Given the description of an element on the screen output the (x, y) to click on. 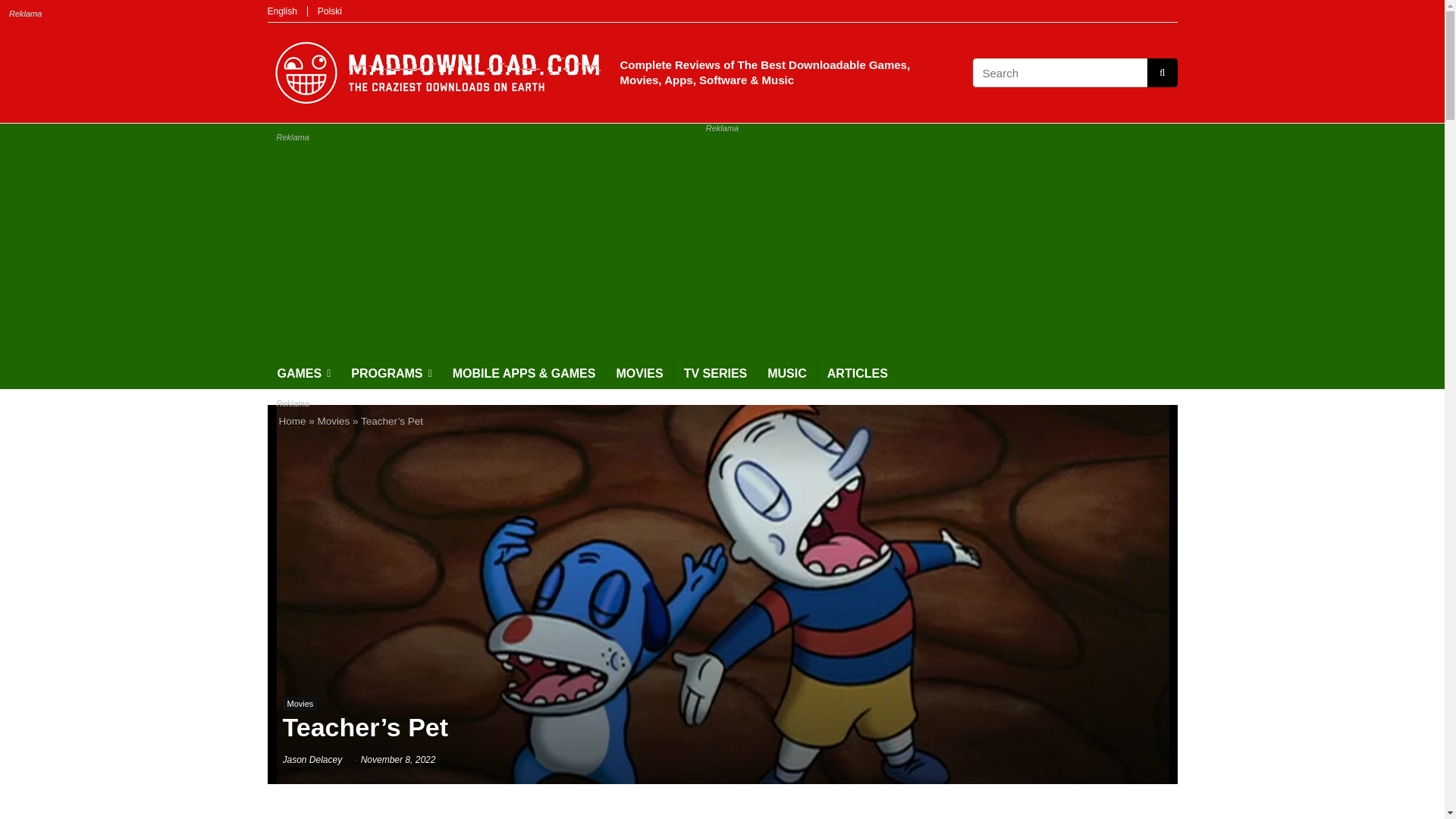
GAMES (303, 374)
MOVIES (638, 374)
English (281, 10)
Home (292, 420)
Movies (333, 420)
Movies (299, 703)
Jason Delacey (312, 759)
TV SERIES (715, 374)
ARTICLES (857, 374)
